Given the description of an element on the screen output the (x, y) to click on. 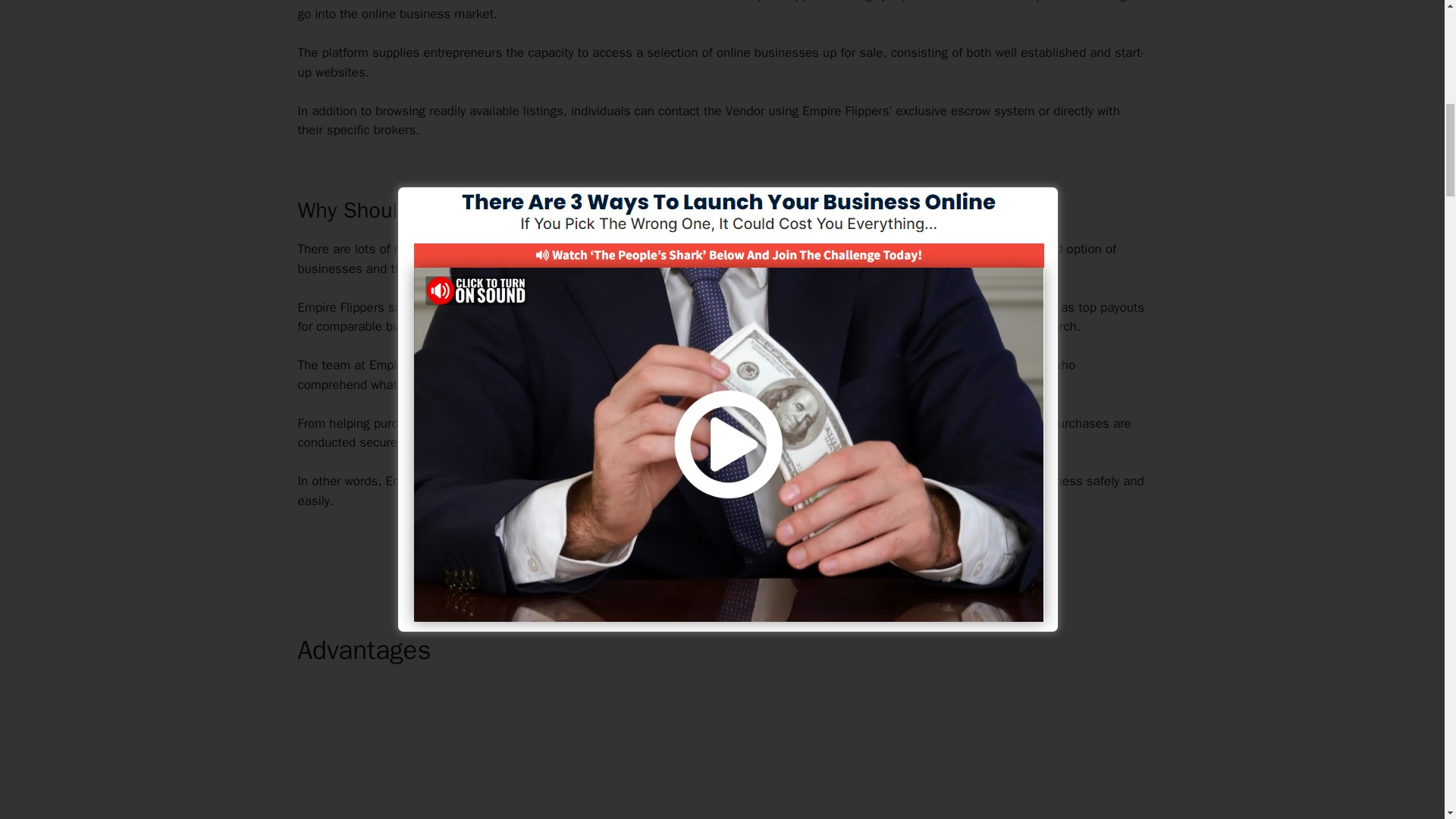
Find Out If Empire Flippers The Right Platform Now (722, 553)
